Given the description of an element on the screen output the (x, y) to click on. 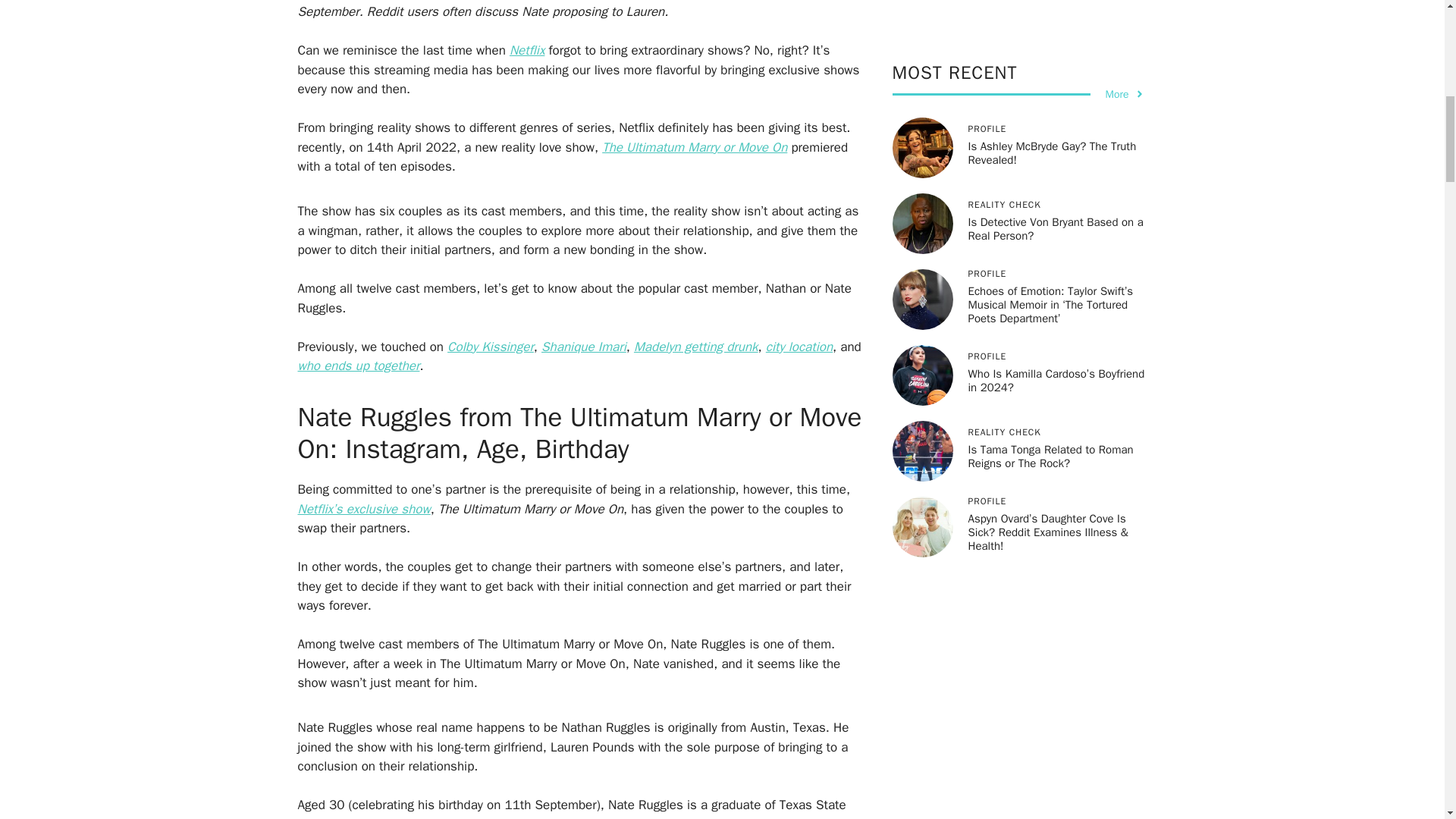
Shanique Imari (583, 345)
Colby Kissinger (490, 345)
Madelyn getting drunk (695, 345)
The Ultimatum Marry or Move On (694, 147)
Netflix (526, 50)
who ends up together (358, 365)
city location (798, 345)
